Given the description of an element on the screen output the (x, y) to click on. 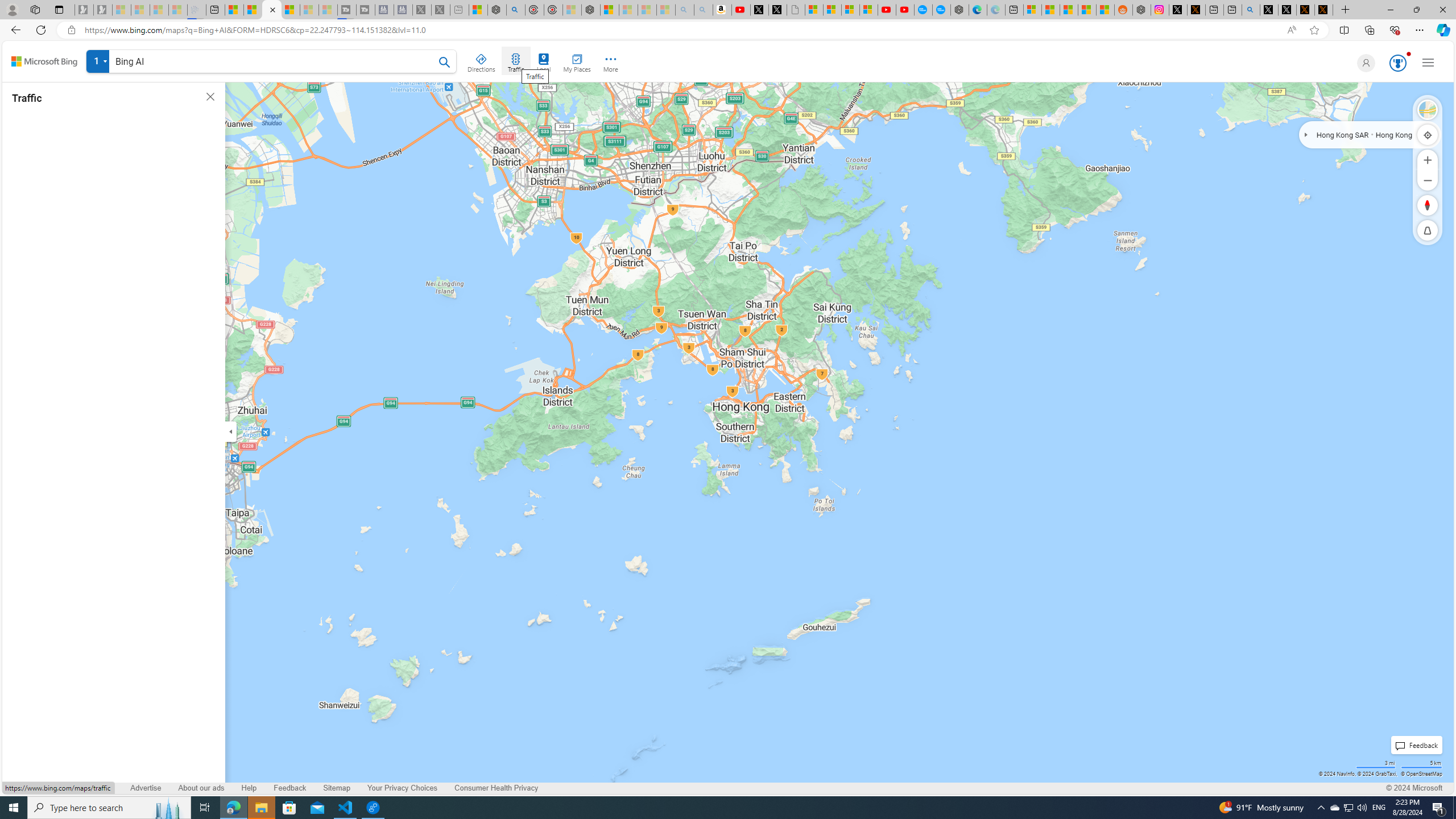
Your Privacy Choices (402, 787)
Nordace - Nordace has arrived Hong Kong (960, 9)
Privacy and Cookies (44, 787)
Consumer Health Privacy (496, 787)
AutomationID: rh_meter (1397, 62)
Help (248, 787)
amazon - Search - Sleeping (684, 9)
Bing AI - Bing Maps (271, 9)
Feedback (290, 787)
poe - Search (515, 9)
